Given the description of an element on the screen output the (x, y) to click on. 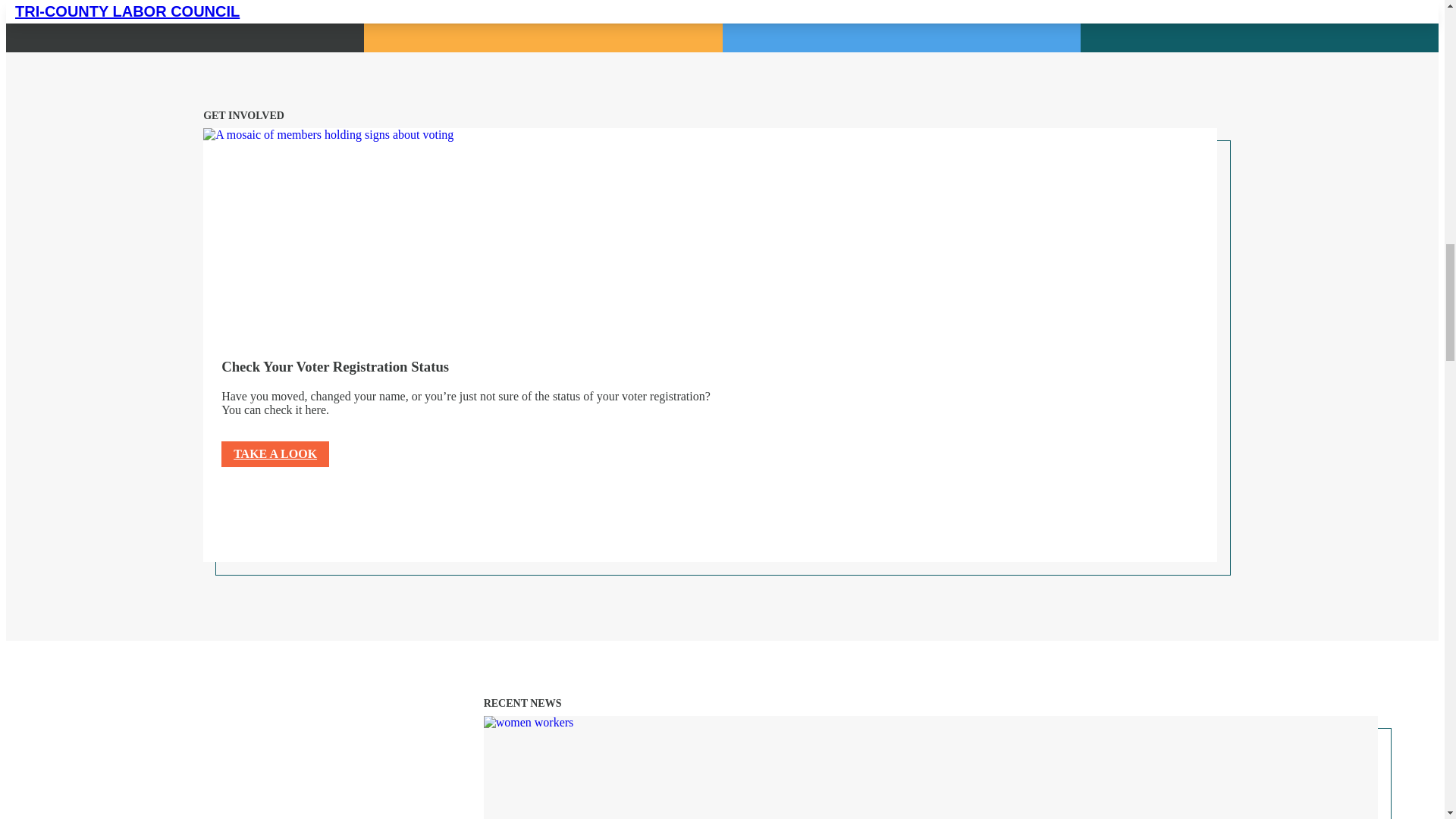
Check Your Voter Registration Status (453, 229)
Record a Video (543, 26)
This Is the Story of How Workers Win (703, 767)
2021 Executive Paywatch (184, 26)
Read the Report (901, 26)
TAKE A LOOK (275, 453)
